Given the description of an element on the screen output the (x, y) to click on. 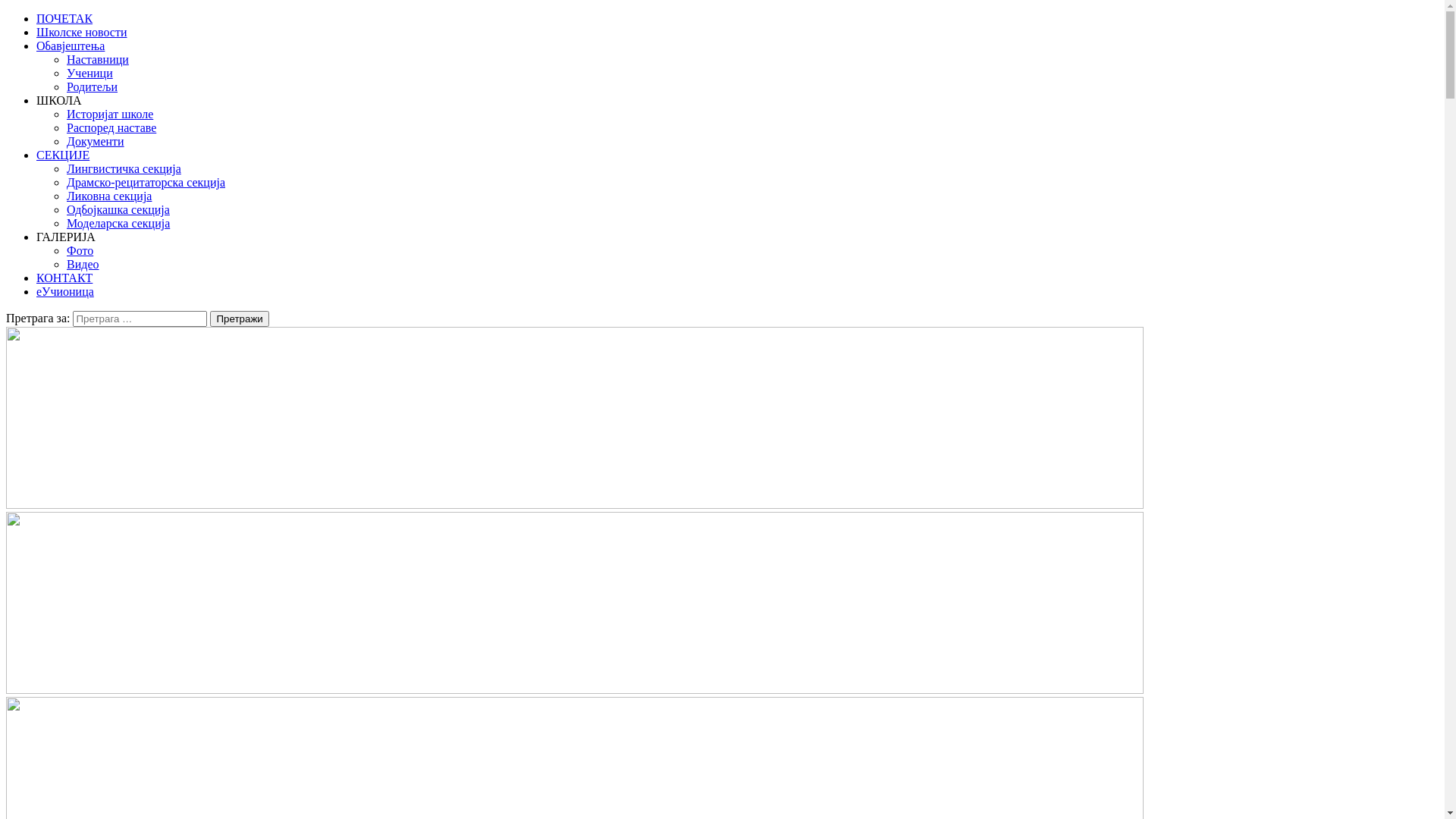
Slider_NEW_2 Element type: hover (574, 417)
Slider_NEW Element type: hover (574, 602)
